Given the description of an element on the screen output the (x, y) to click on. 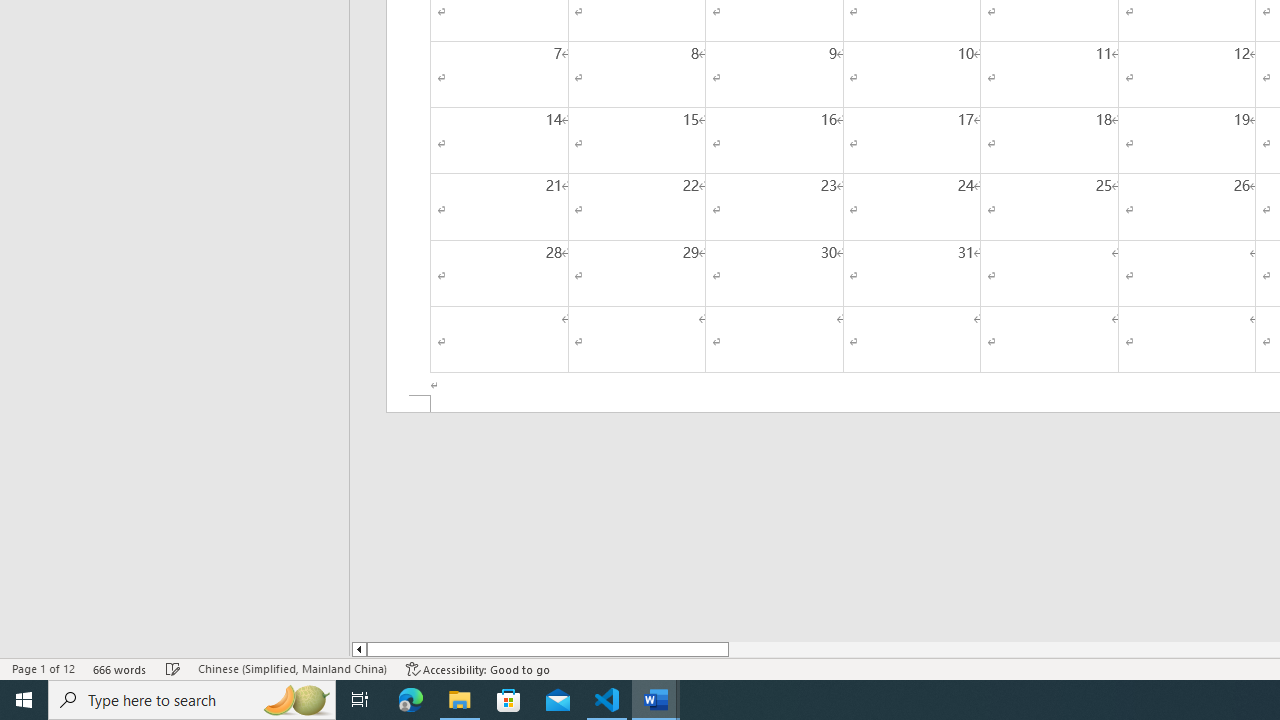
Column left (358, 649)
Page Number Page 1 of 12 (43, 668)
